Given the description of an element on the screen output the (x, y) to click on. 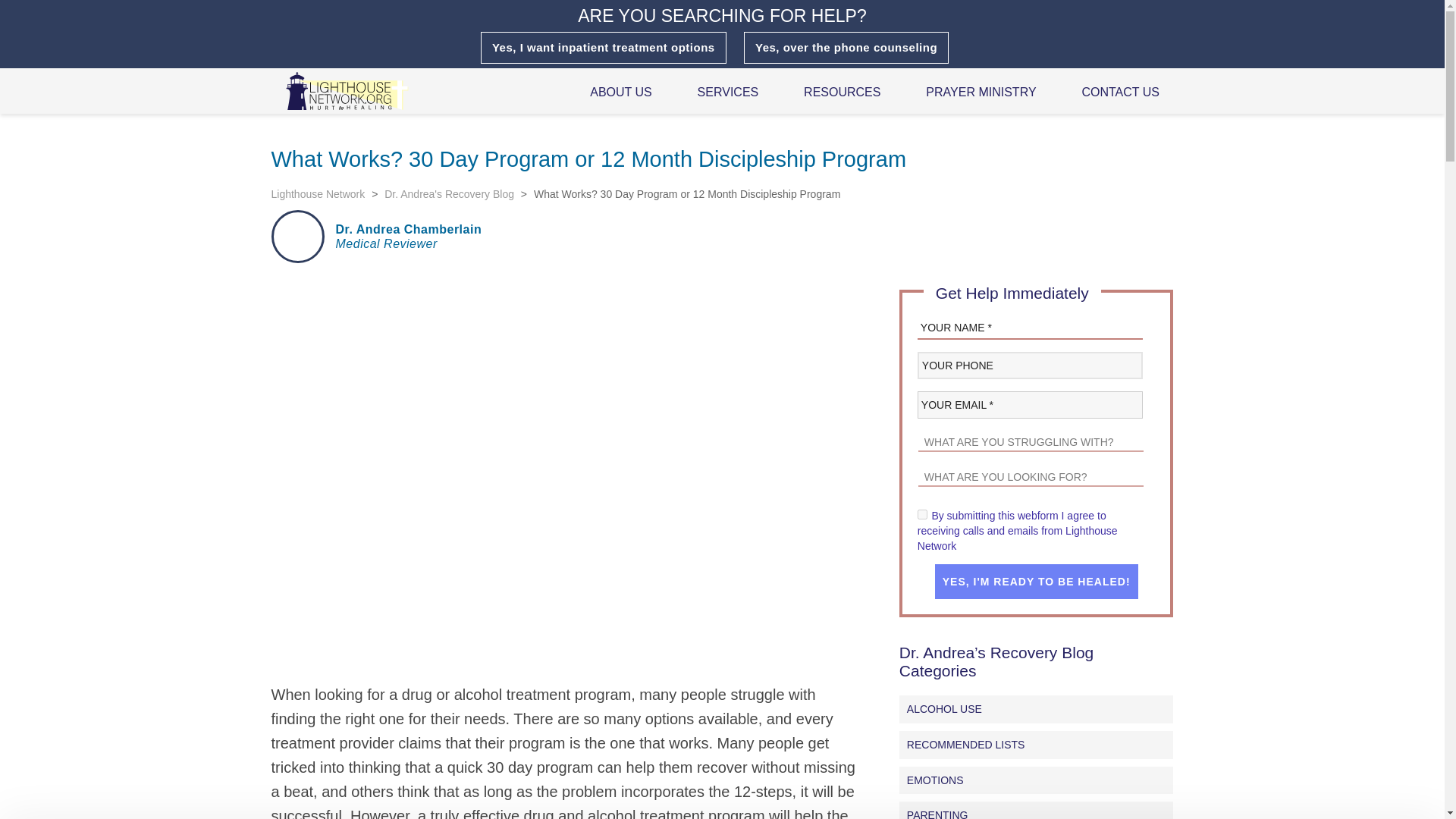
Go to the Dr. Andrea's Recovery Blog Category archives. (448, 193)
Yes, I'm ready to be healed! (1036, 581)
Go to Lighthouse Network. (317, 193)
1 (922, 514)
